Given the description of an element on the screen output the (x, y) to click on. 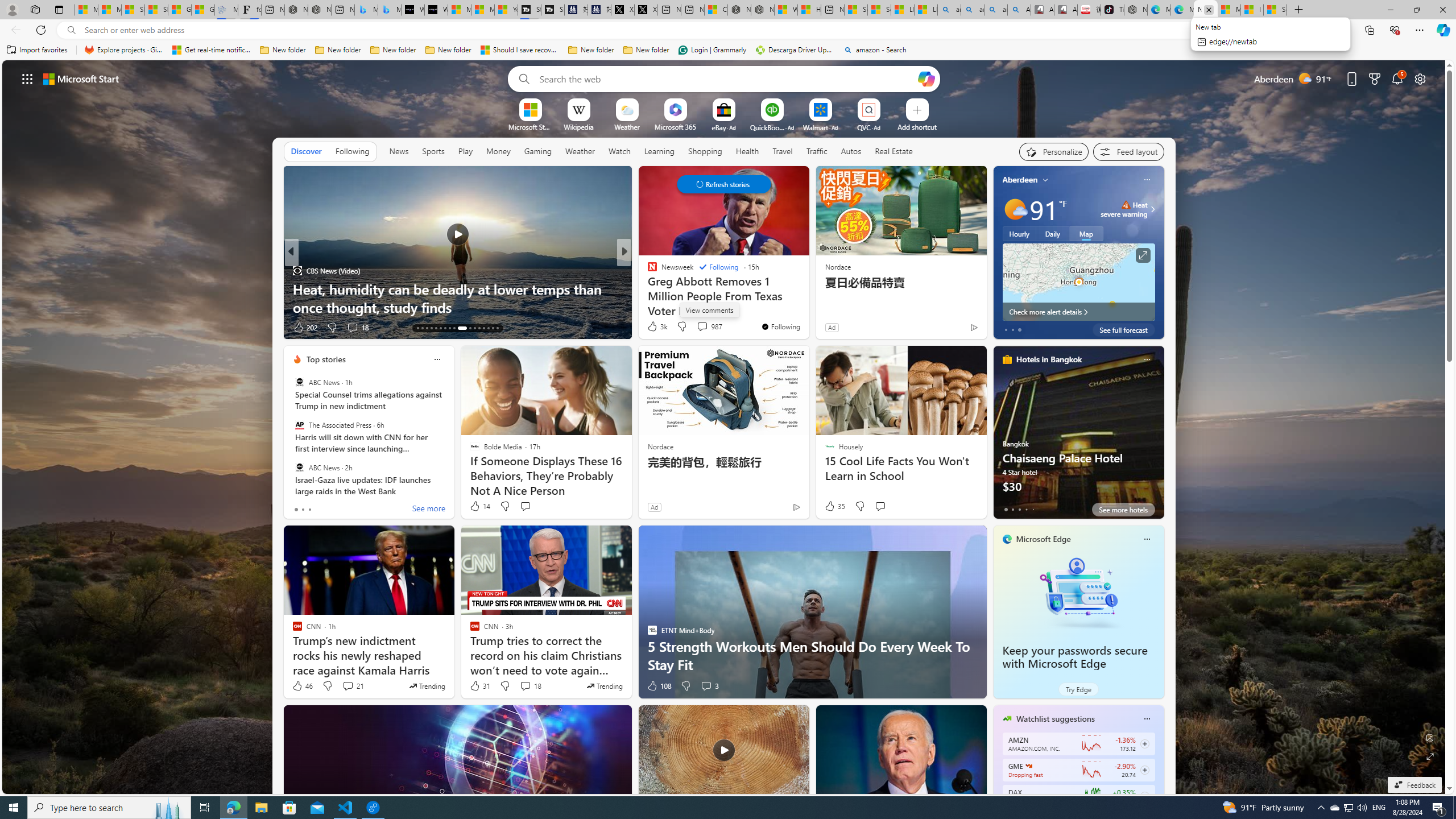
Mostly sunny (1014, 208)
Import favorites (36, 49)
Real Estate (893, 151)
Ad Choice (796, 506)
X (645, 9)
View comments 174 Comment (6, 327)
Wildlife - MSN (786, 9)
Nordace (659, 446)
45 Like (652, 327)
Microsoft 365 (675, 126)
Money (498, 151)
amazon - Search (875, 49)
Discover (306, 151)
Learning (659, 151)
AutomationID: tab-17 (435, 328)
